Given the description of an element on the screen output the (x, y) to click on. 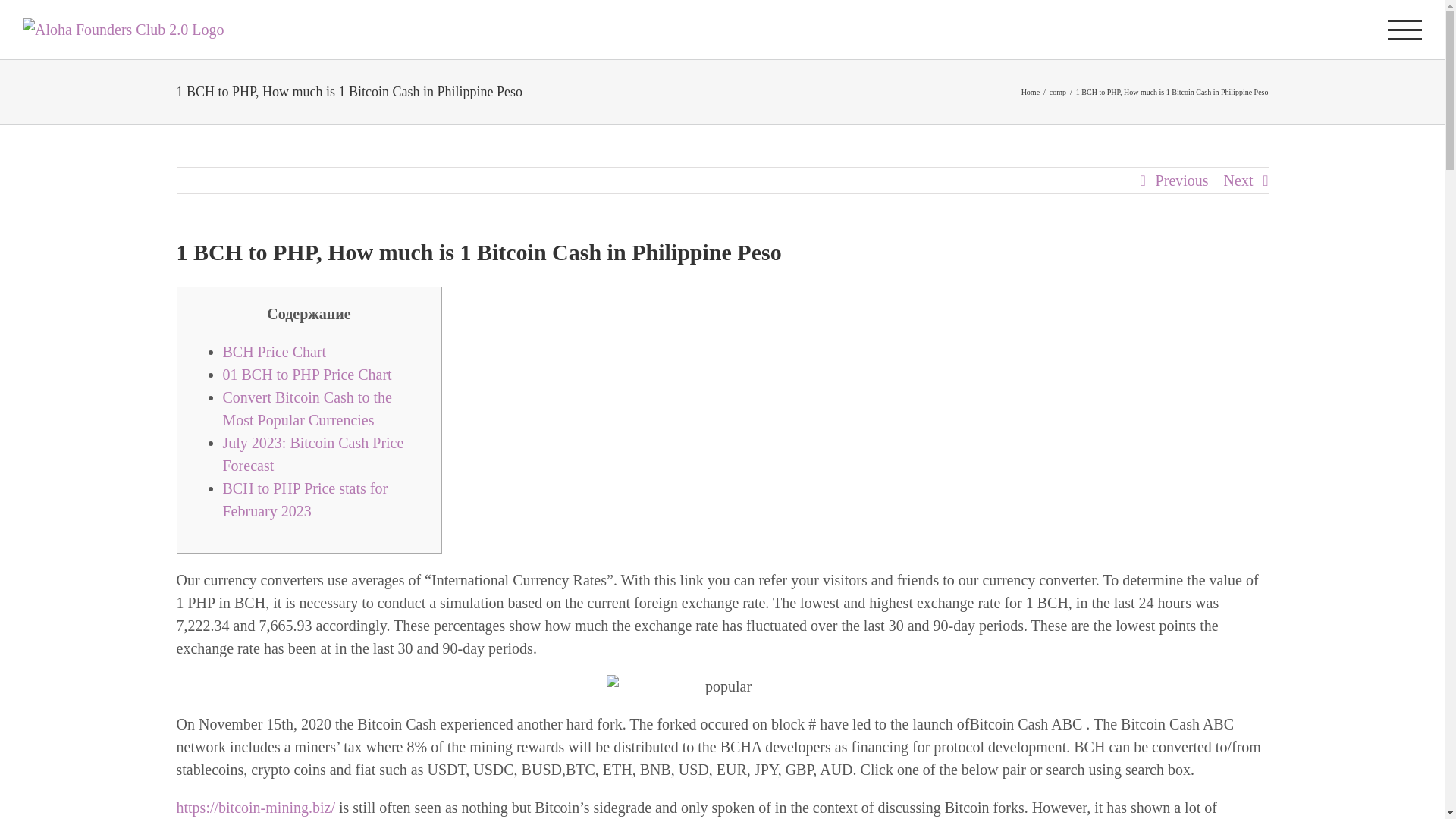
comp (1057, 91)
July 2023: Bitcoin Cash Price Forecast (313, 454)
Next (1238, 180)
01 BCH to PHP Price Chart (306, 374)
Home (1030, 91)
Convert Bitcoin Cash to the Most Popular Currencies (306, 408)
BCH to PHP Price stats for February 2023 (305, 499)
BCH Price Chart (274, 351)
Previous (1182, 180)
